Given the description of an element on the screen output the (x, y) to click on. 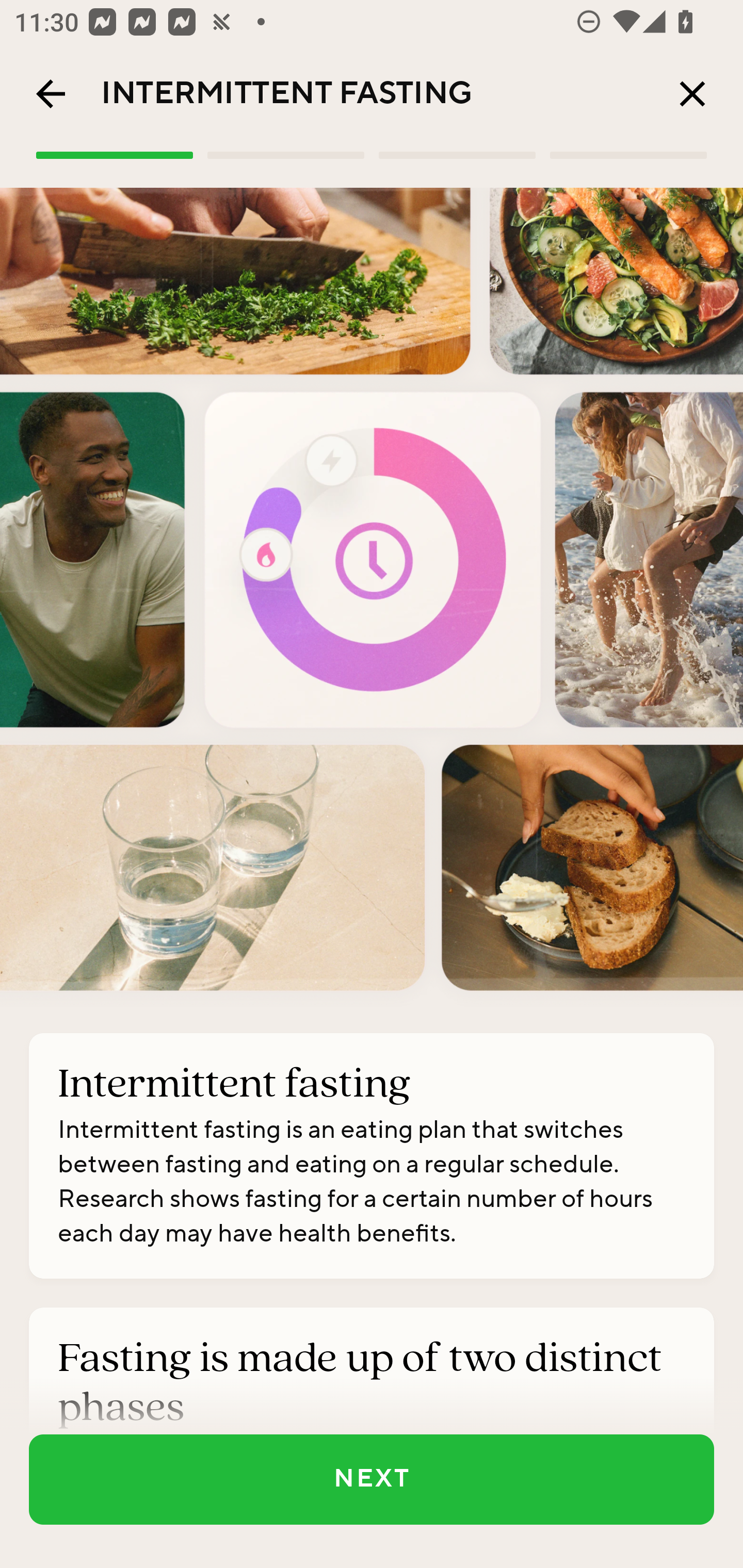
NEXT (371, 1479)
